Given the description of an element on the screen output the (x, y) to click on. 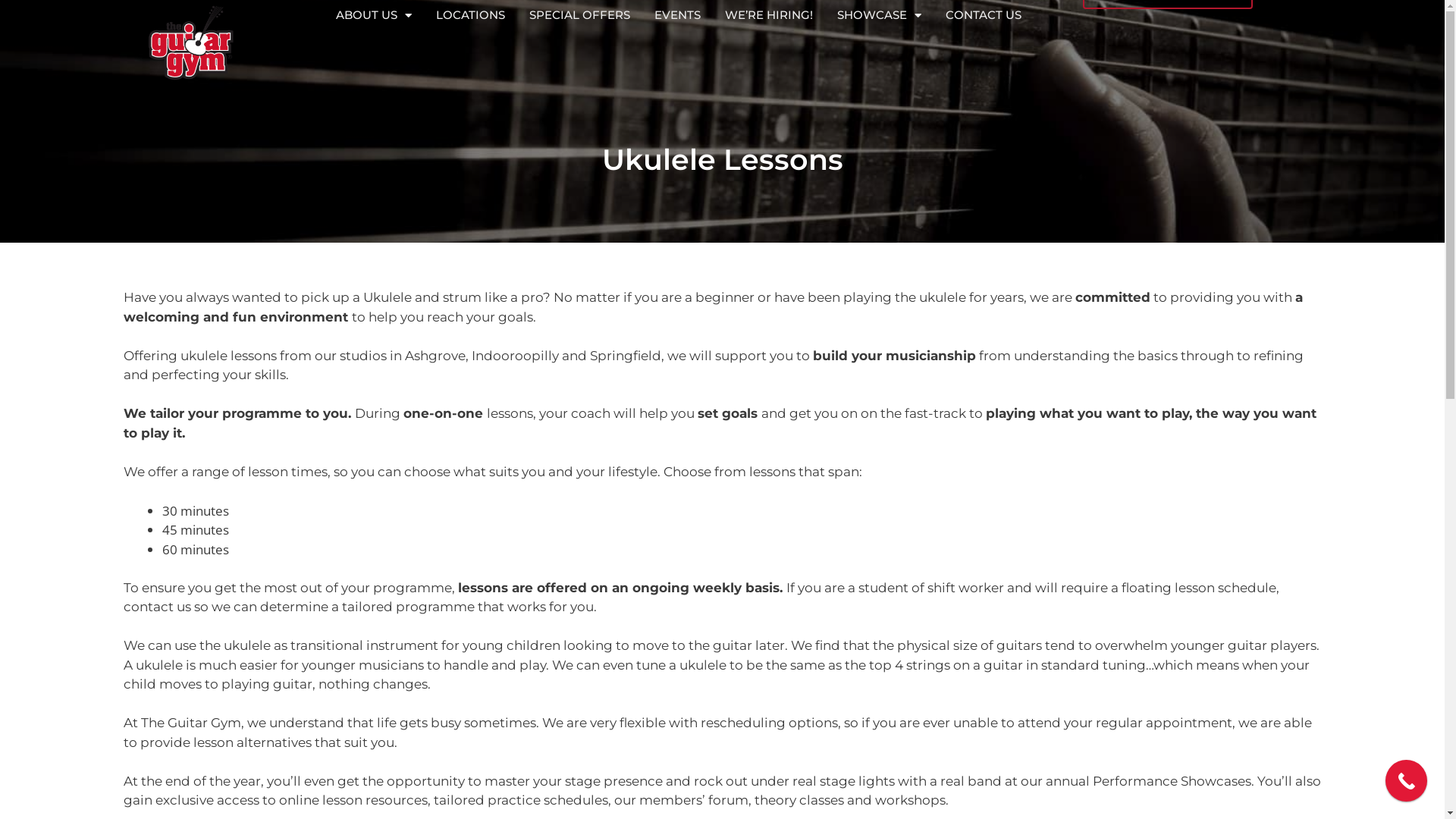
SPECIAL OFFERS Element type: text (579, 14)
CONTACT US Element type: text (983, 14)
SHOWCASE Element type: text (879, 14)
LOCATIONS Element type: text (470, 14)
Next Element type: text (1245, 662)
ABOUT US Element type: text (373, 14)
call Element type: text (1406, 780)
EVENTS Element type: text (677, 14)
